Given the description of an element on the screen output the (x, y) to click on. 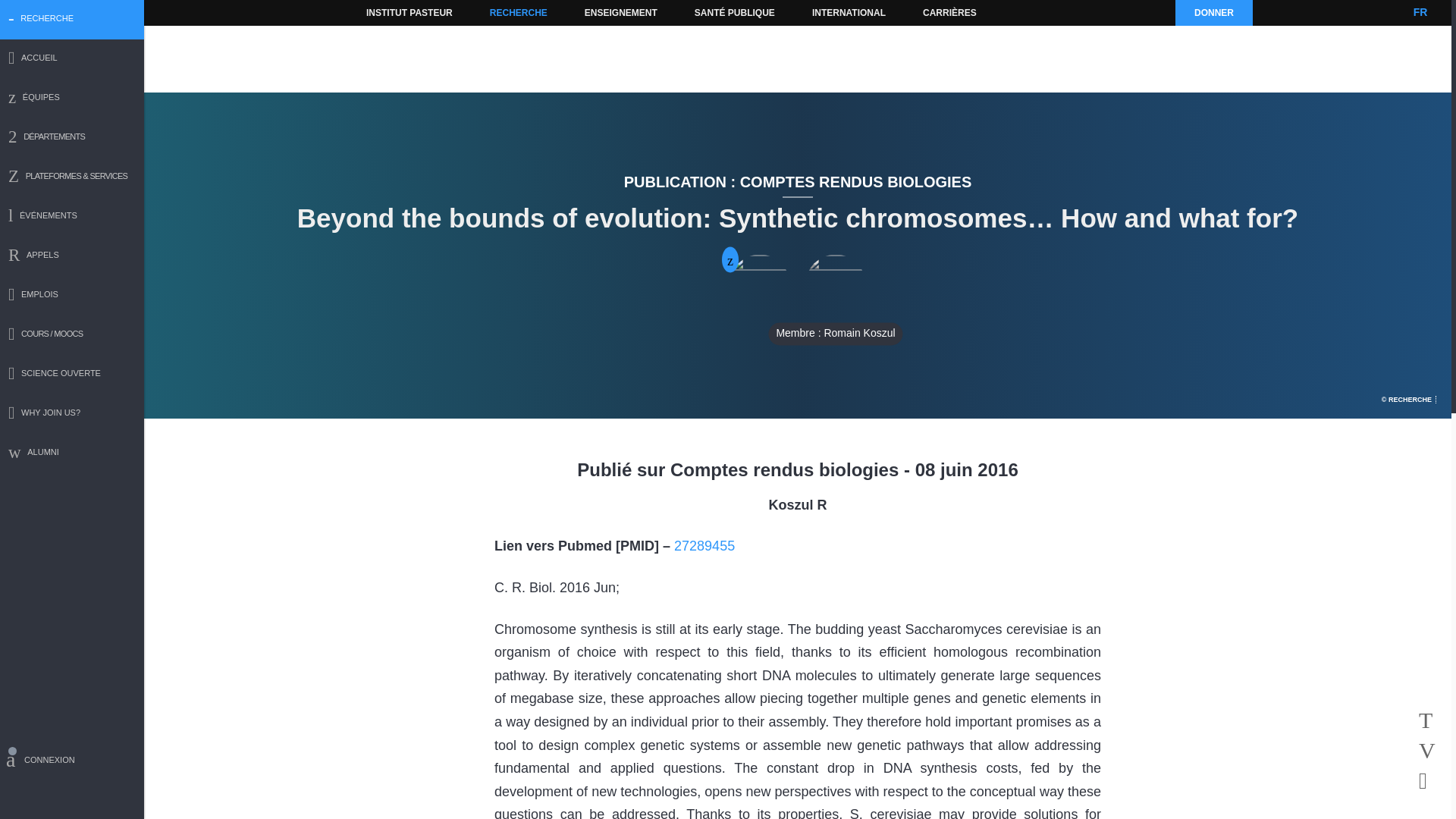
RECHERCHE (518, 12)
WHY JOIN US? (72, 413)
SCIENCE OUVERTE (72, 374)
ALUMNI (72, 454)
APPELS (72, 256)
ENSEIGNEMENT (620, 12)
ACCUEIL (72, 59)
CONNEXION (72, 762)
FR (1419, 11)
Aller au contenu (391, 11)
